Given the description of an element on the screen output the (x, y) to click on. 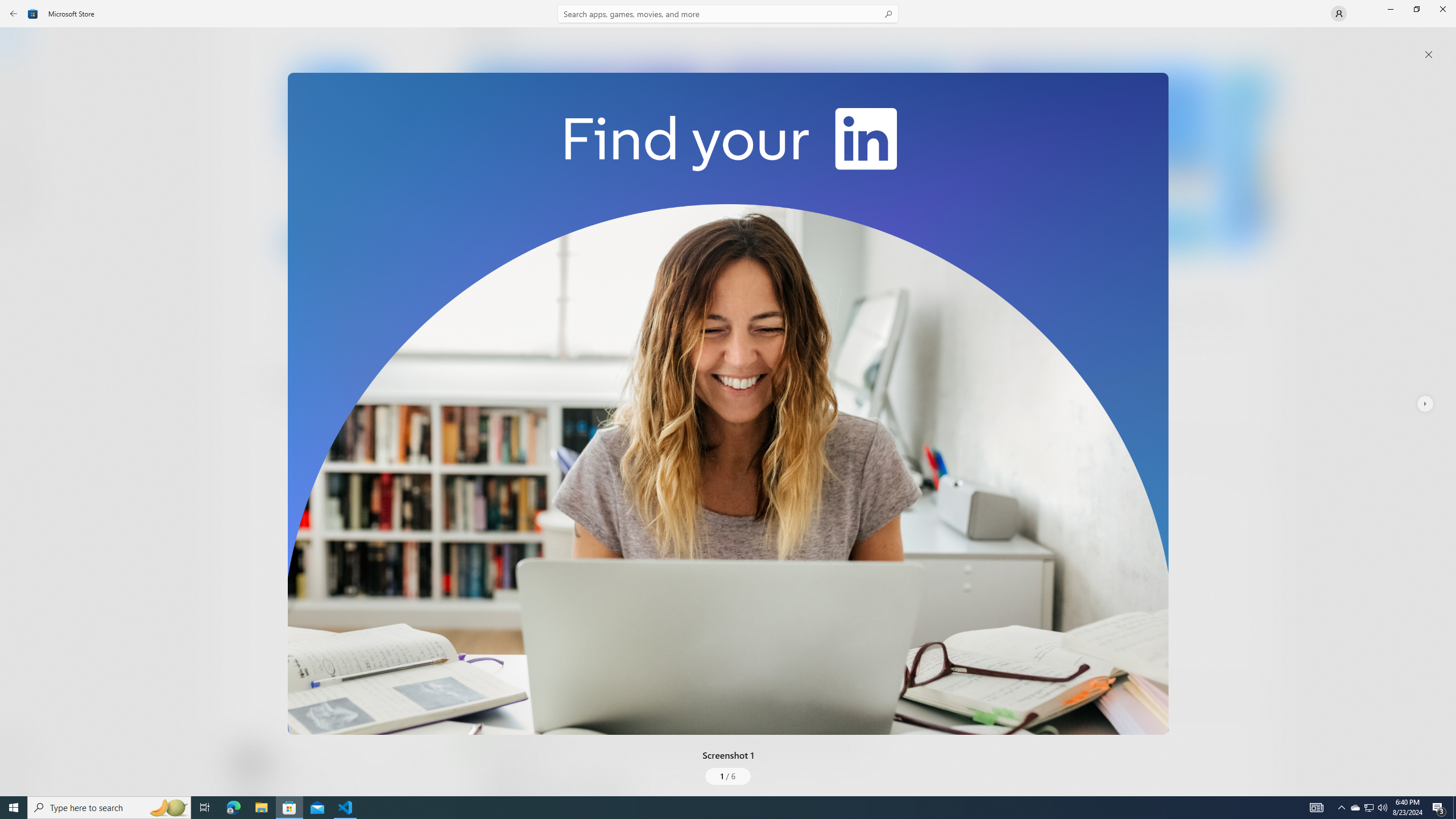
Apps (20, 80)
AI Hub (20, 221)
